Given the description of an element on the screen output the (x, y) to click on. 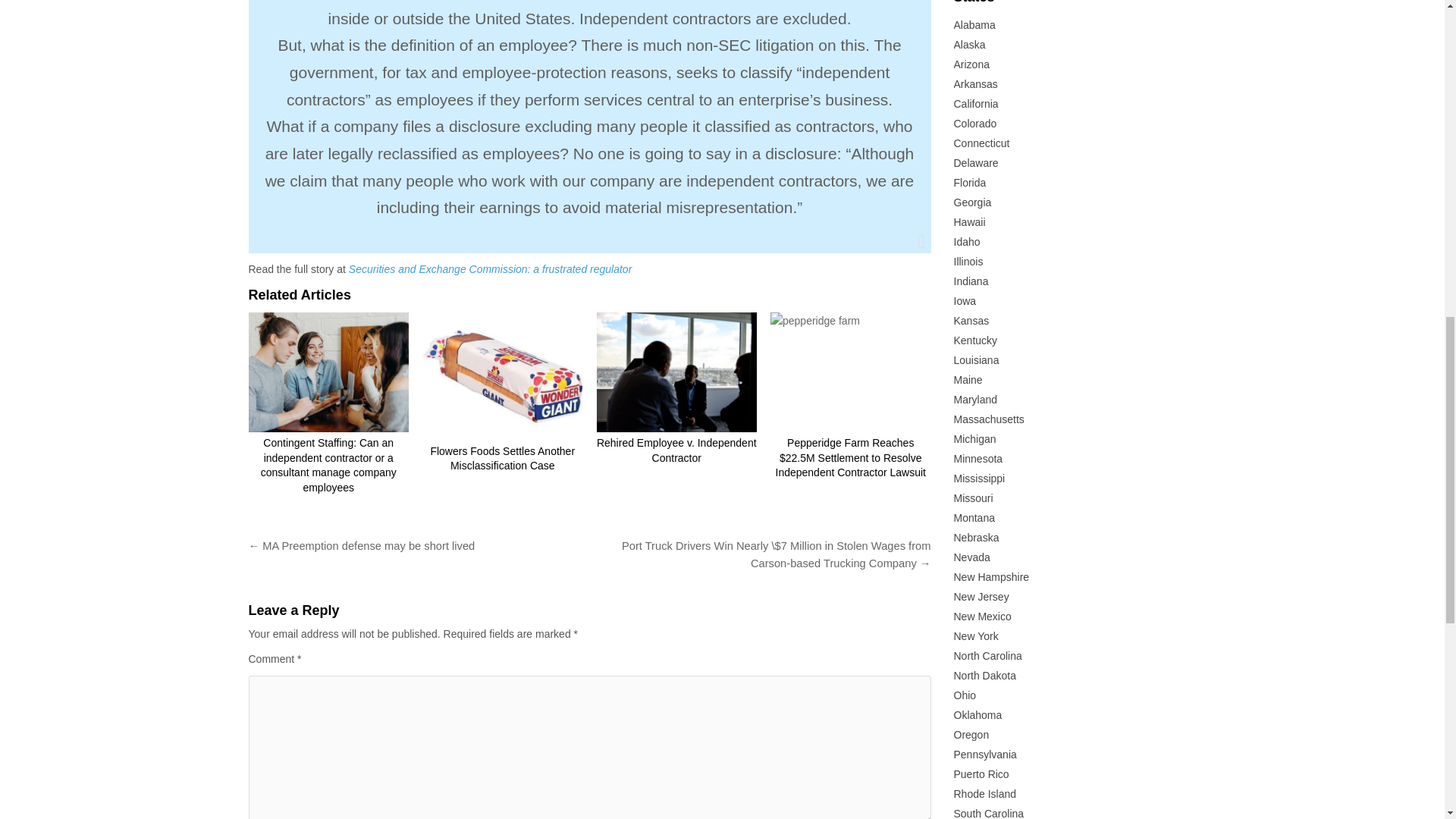
Permanent Link to Rehired Employee v. Independent Contractor (676, 450)
Arkansas (975, 83)
Flowers Foods Settles Another Misclassification Case (502, 458)
Permanent Link to Rehired Employee v. Independent Contractor (676, 372)
Alabama (974, 24)
Illinois (968, 261)
Hawaii (969, 222)
Delaware (975, 162)
Connecticut (981, 143)
Securities and Exchange Commission: a frustrated regulator  (491, 268)
Alaska (969, 44)
Idaho (966, 241)
